Given the description of an element on the screen output the (x, y) to click on. 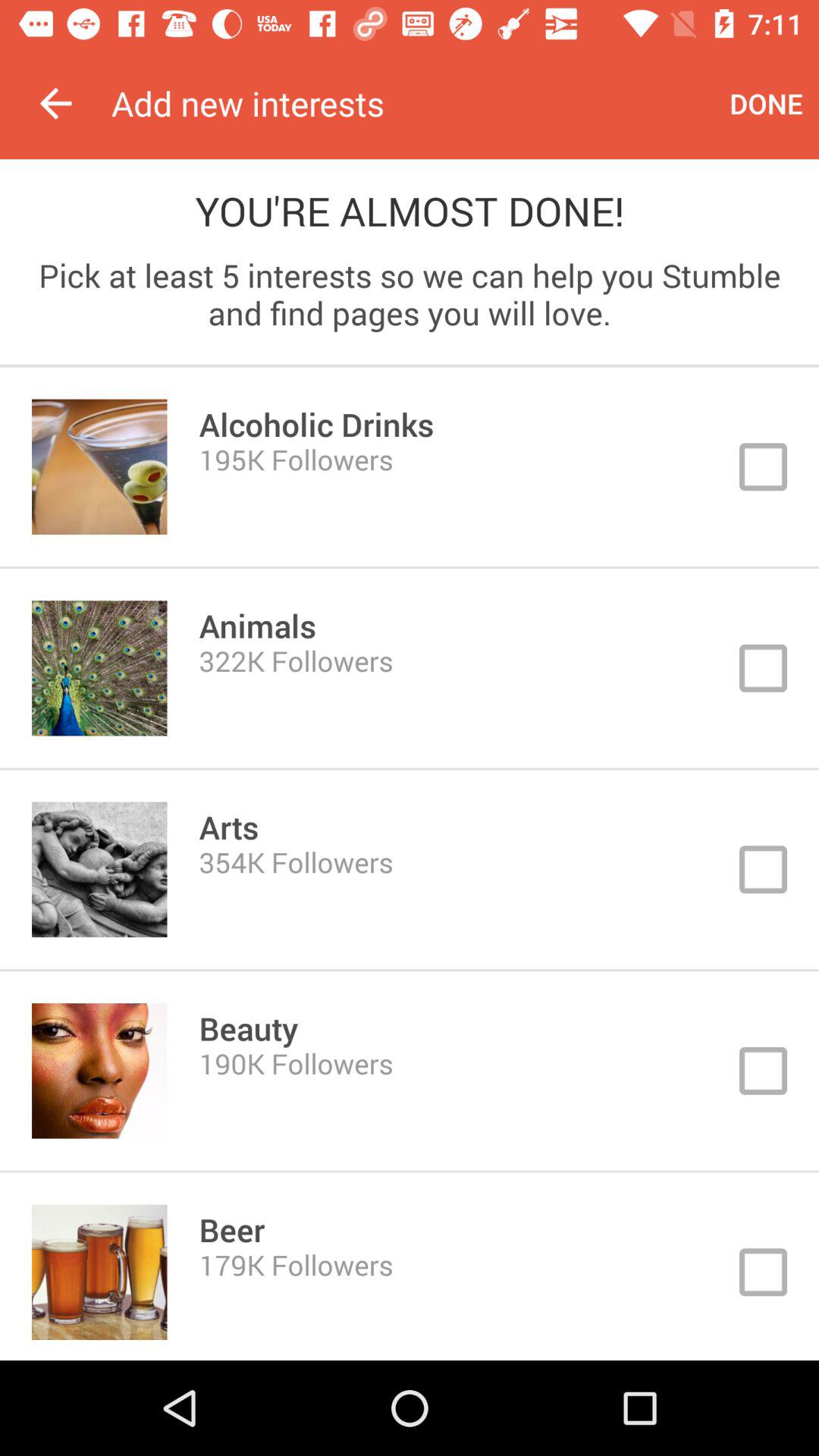
select alcoholic drinks interest (409, 466)
